Given the description of an element on the screen output the (x, y) to click on. 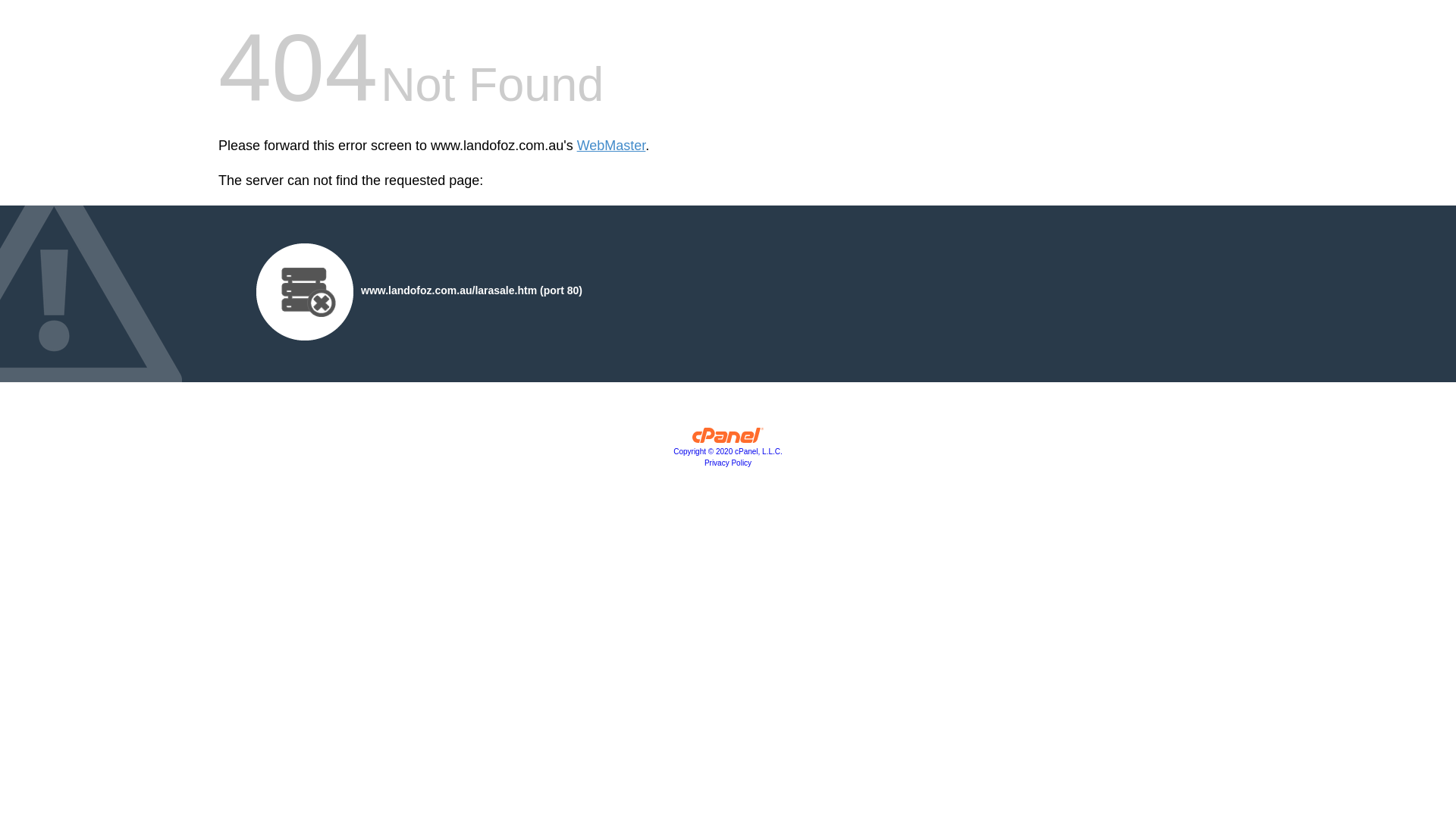
cPanel, Inc. Element type: hover (728, 439)
WebMaster Element type: text (611, 145)
Privacy Policy Element type: text (727, 462)
